Given the description of an element on the screen output the (x, y) to click on. 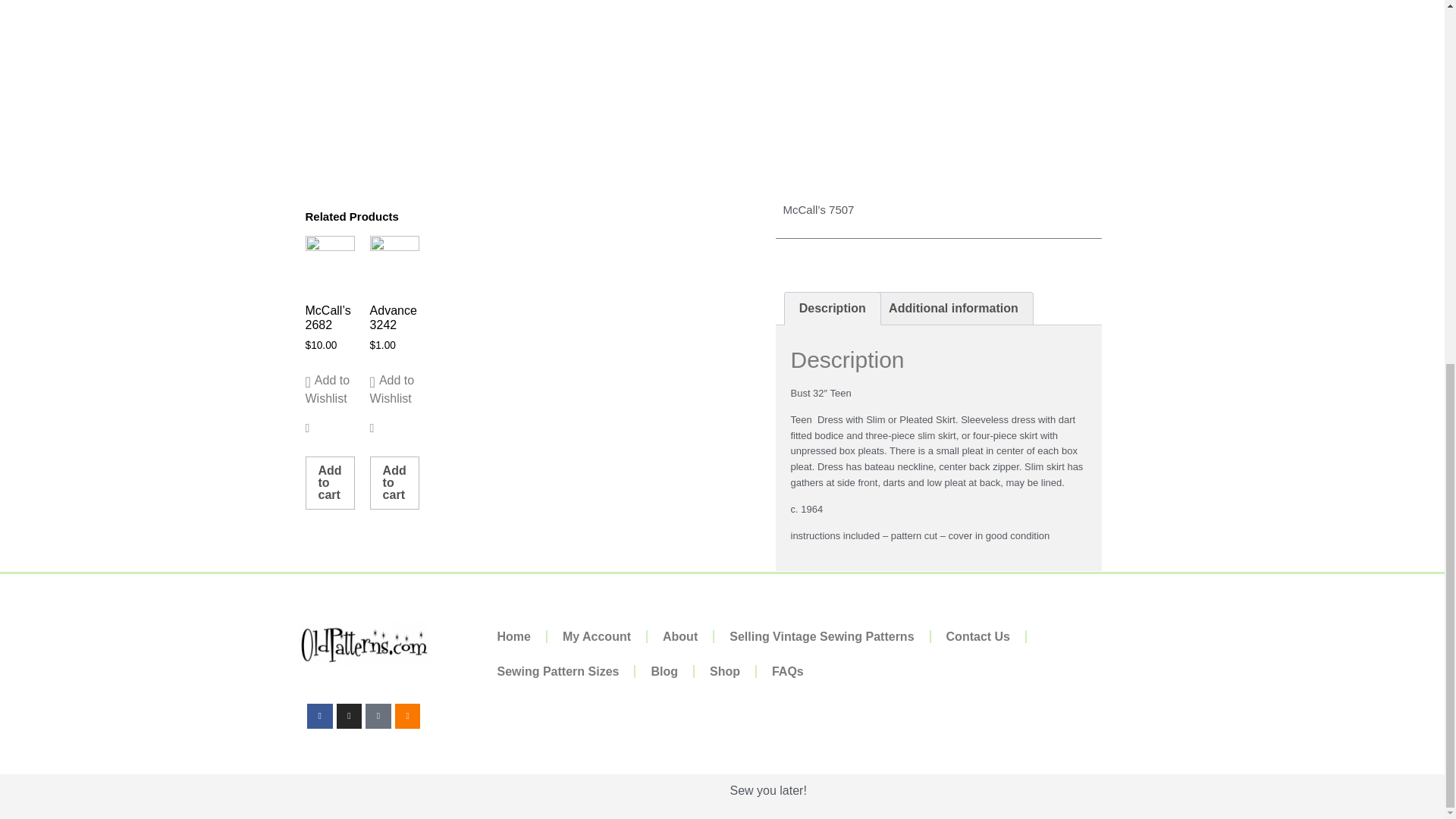
Add to cart (328, 482)
Description (831, 308)
Additional information (953, 308)
images (505, 55)
Add to cart (394, 482)
Add to Wishlist (328, 389)
Add to Wishlist (394, 389)
